Given the description of an element on the screen output the (x, y) to click on. 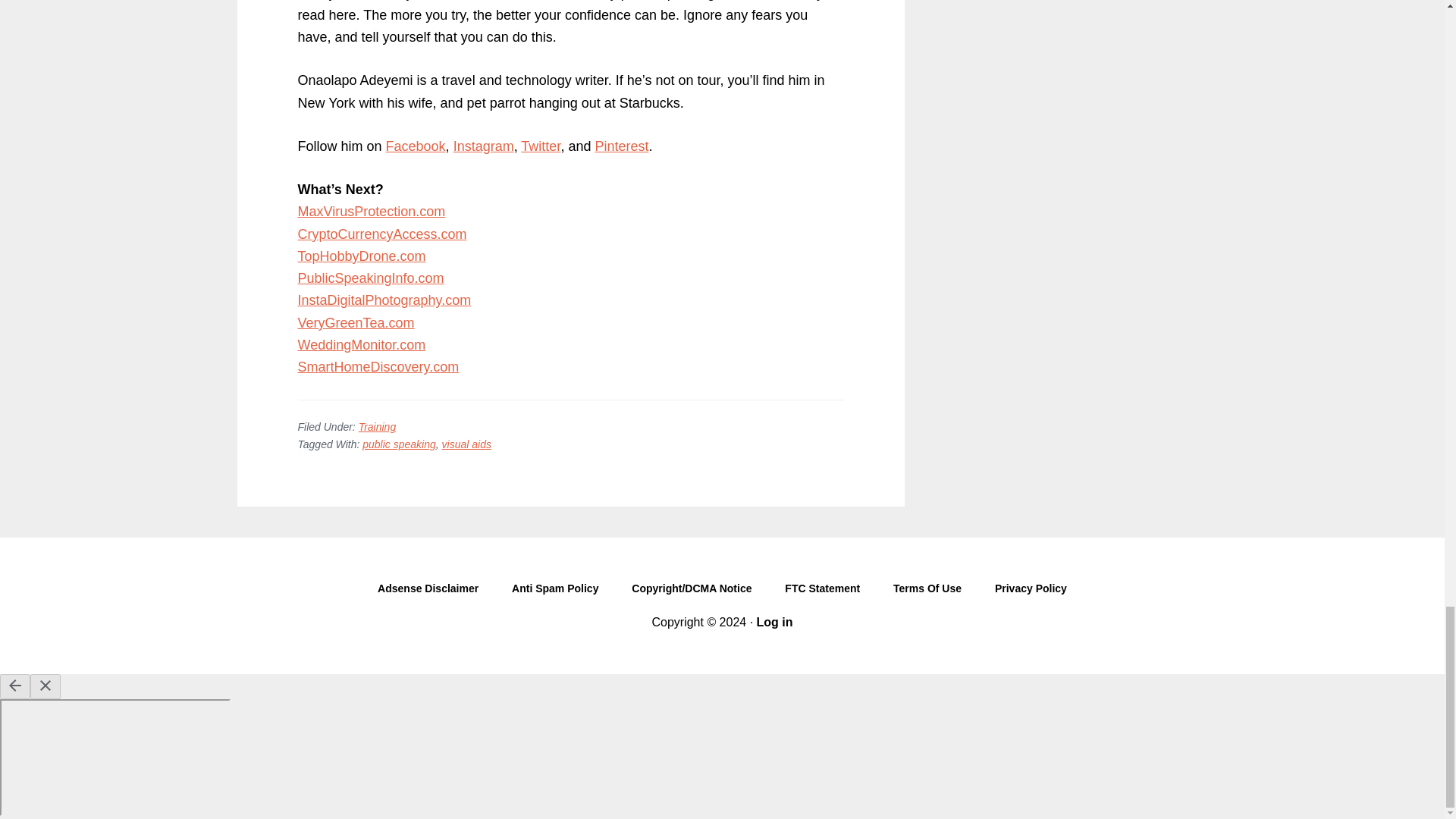
Instagram (482, 145)
PublicSpeakingInfo.com (370, 278)
Facebook (415, 145)
CryptoCurrencyAccess.com (381, 233)
MaxVirusProtection.com (371, 211)
visual aids (467, 444)
WeddingMonitor.com (361, 344)
Twitter (540, 145)
public speaking (398, 444)
SmartHomeDiscovery.com (377, 366)
TopHobbyDrone.com (361, 255)
InstaDigitalPhotography.com (383, 299)
Pinterest (620, 145)
Training (377, 426)
VeryGreenTea.com (355, 322)
